Given the description of an element on the screen output the (x, y) to click on. 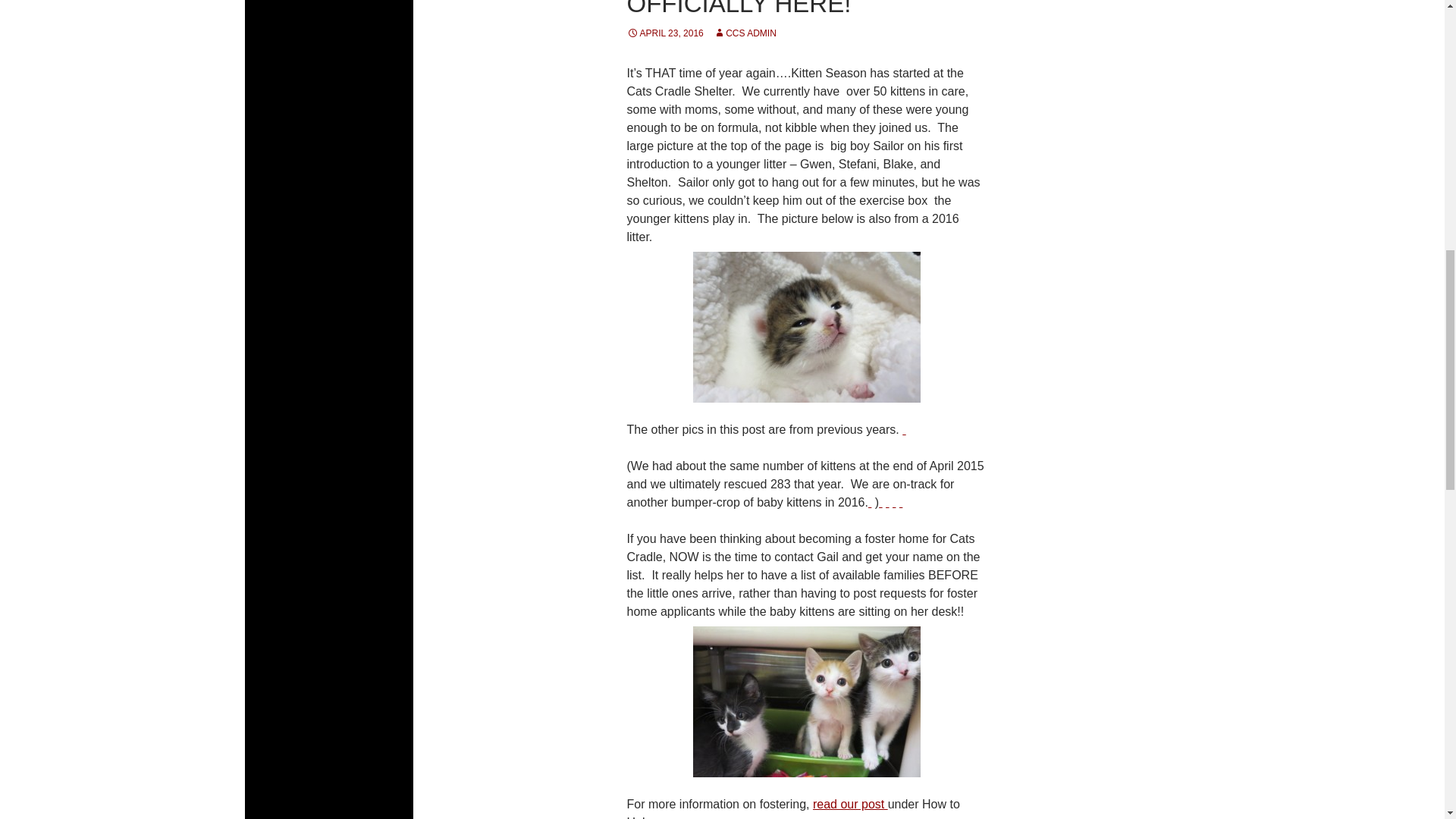
CCS ADMIN (744, 32)
APRIL 23, 2016 (664, 32)
read our post (850, 803)
